Given the description of an element on the screen output the (x, y) to click on. 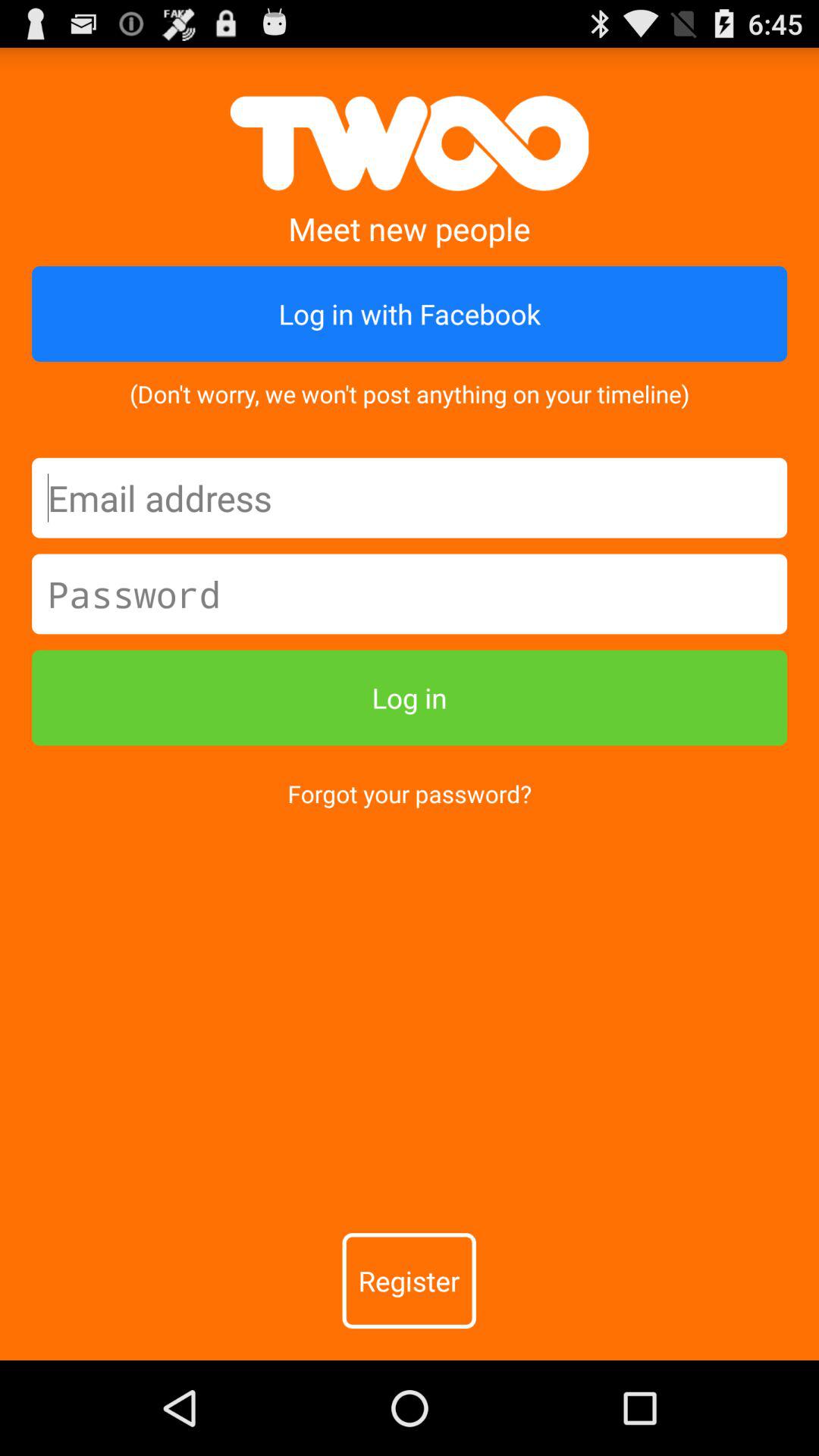
press the item below don t worry (409, 497)
